Given the description of an element on the screen output the (x, y) to click on. 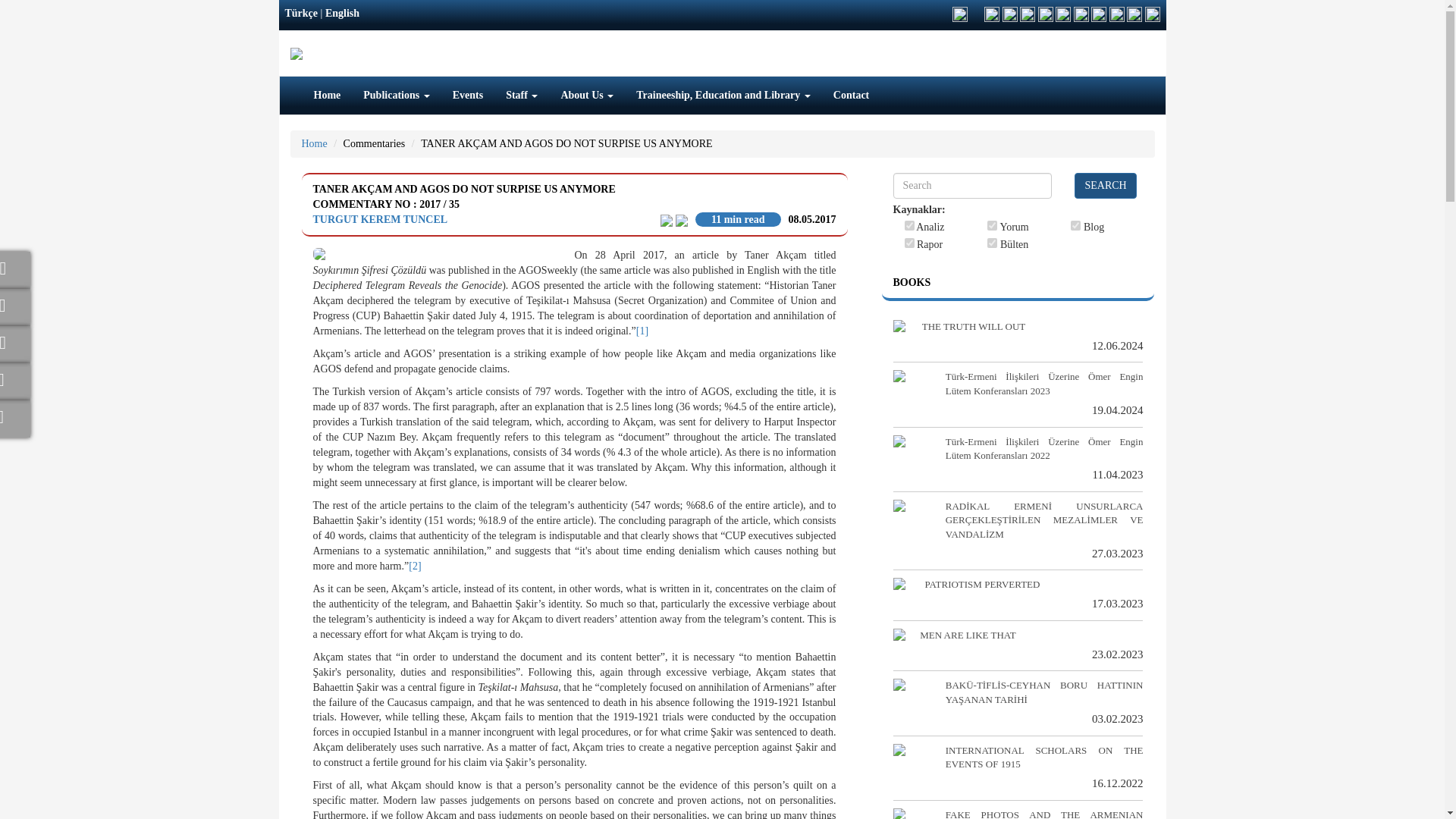
Telegram (15, 378)
Events (468, 95)
Yorum (992, 225)
Bulten (992, 243)
Facebook (15, 267)
Blog (1075, 225)
Twitter (15, 305)
Twitter (15, 305)
Rapor (909, 243)
Linkedin (15, 341)
